Given the description of an element on the screen output the (x, y) to click on. 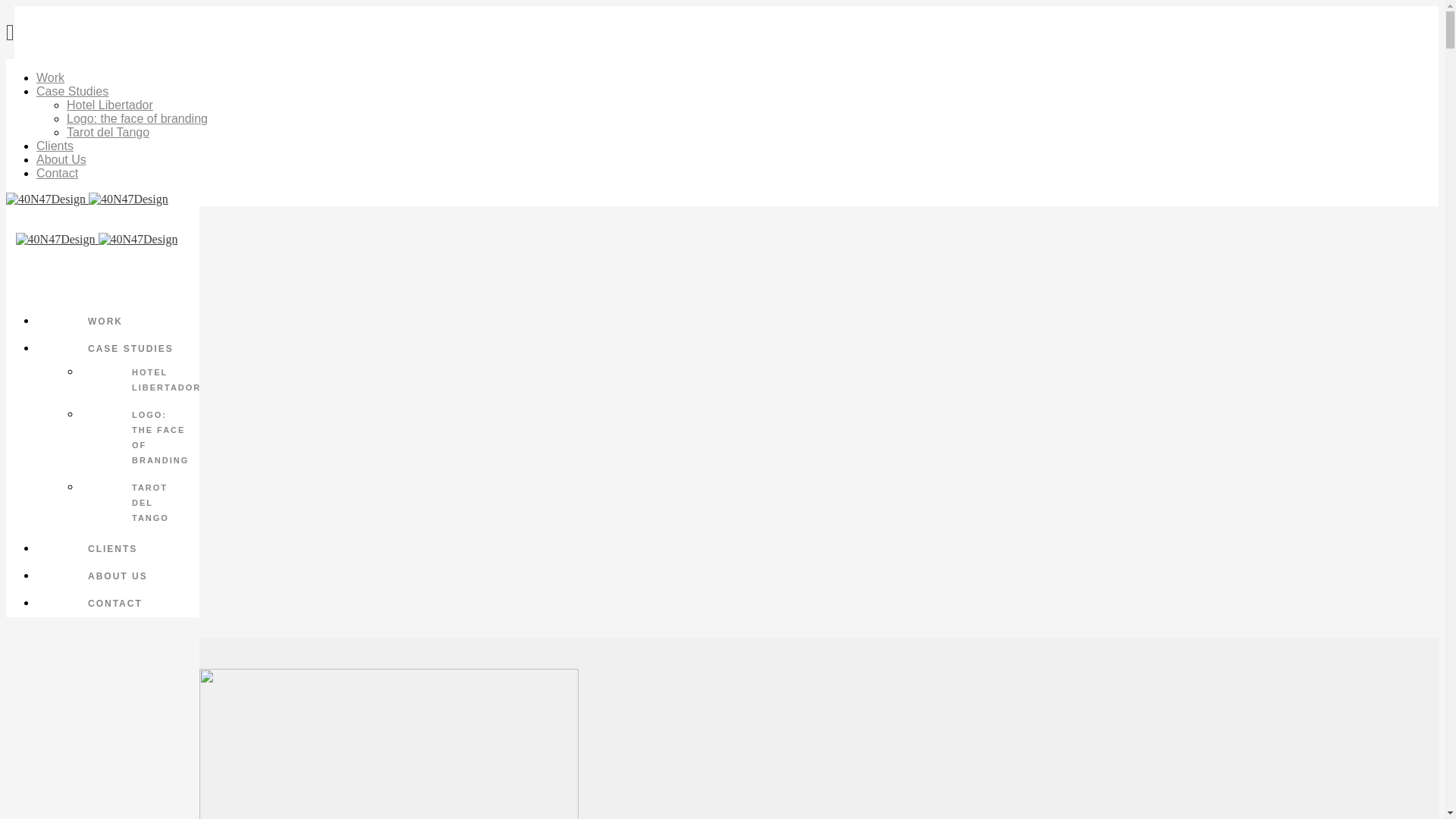
Hotel Libertador Element type: text (109, 104)
40N47Design Element type: hover (96, 239)
CLIENTS Element type: text (122, 548)
CONTACT Element type: text (122, 603)
Clients Element type: text (54, 145)
WORK Element type: text (122, 321)
40N47Design Element type: hover (722, 199)
TAROT DEL TANGO Element type: text (142, 502)
CASE STUDIES Element type: text (122, 348)
LOGO: THE FACE OF BRANDING Element type: text (142, 437)
HOTEL LIBERTADOR Element type: text (142, 379)
Case Studies Element type: text (72, 90)
ABOUT US Element type: text (122, 576)
Logo: the face of branding Element type: text (136, 118)
Work Element type: text (50, 77)
About Us Element type: text (61, 159)
Tarot del Tango Element type: text (107, 131)
Contact Element type: text (57, 172)
